Given the description of an element on the screen output the (x, y) to click on. 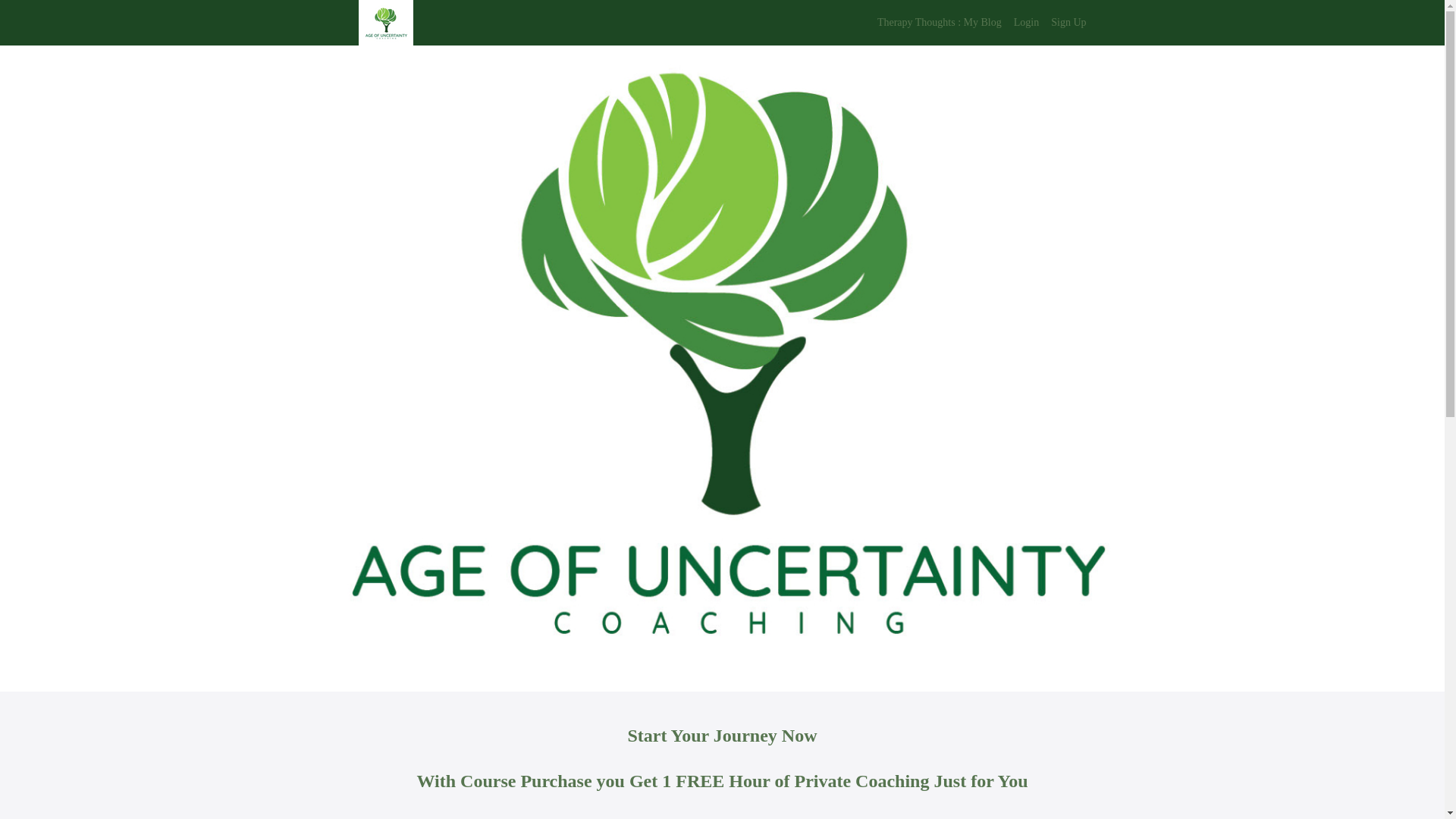
Login (1026, 22)
Sign Up (1068, 22)
Therapy Thoughts : My Blog (939, 22)
